Given the description of an element on the screen output the (x, y) to click on. 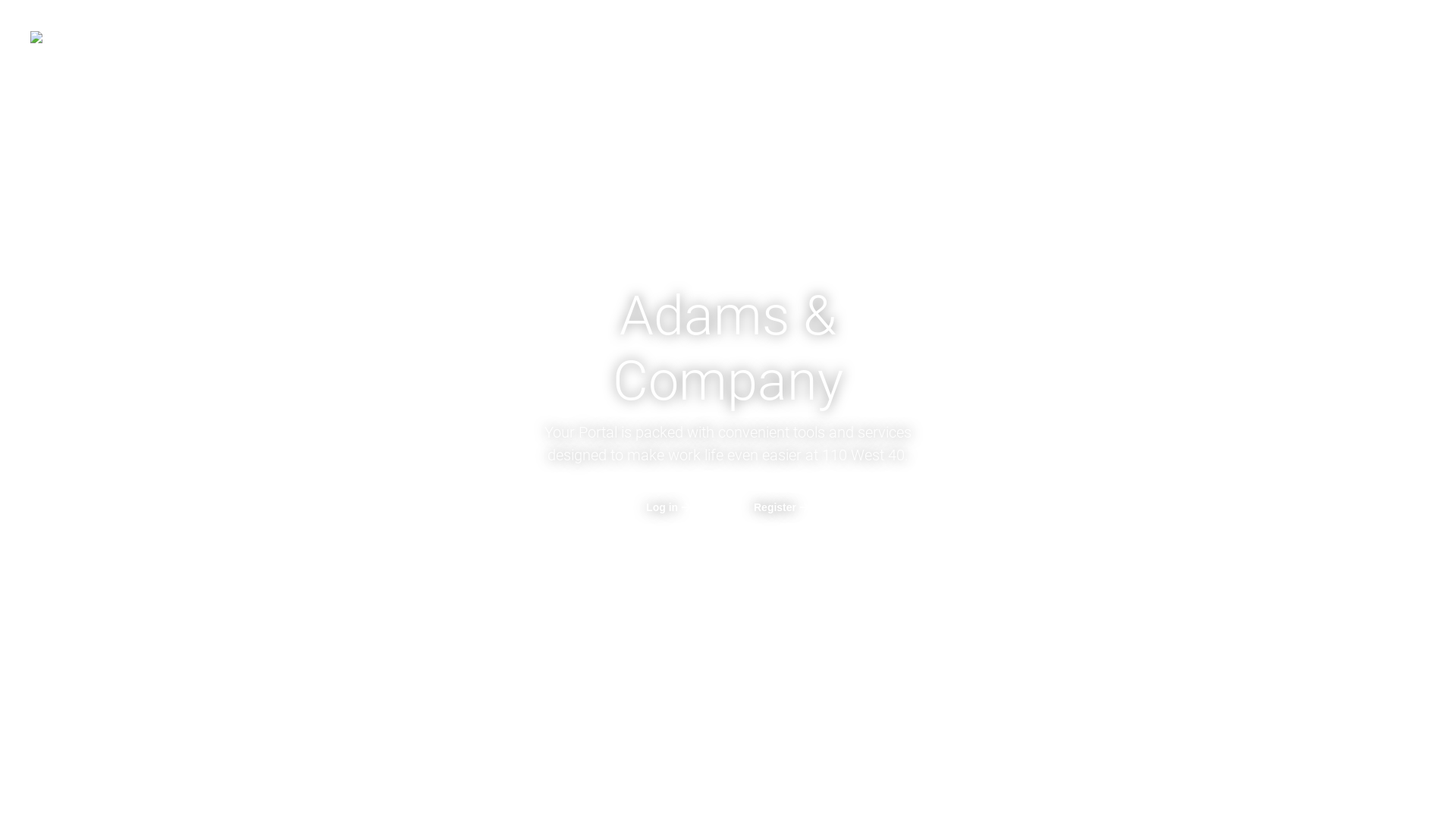
Register Element type: text (781, 507)
Privacy Element type: text (753, 778)
Log in Element type: text (668, 507)
Terms Element type: text (698, 778)
